Given the description of an element on the screen output the (x, y) to click on. 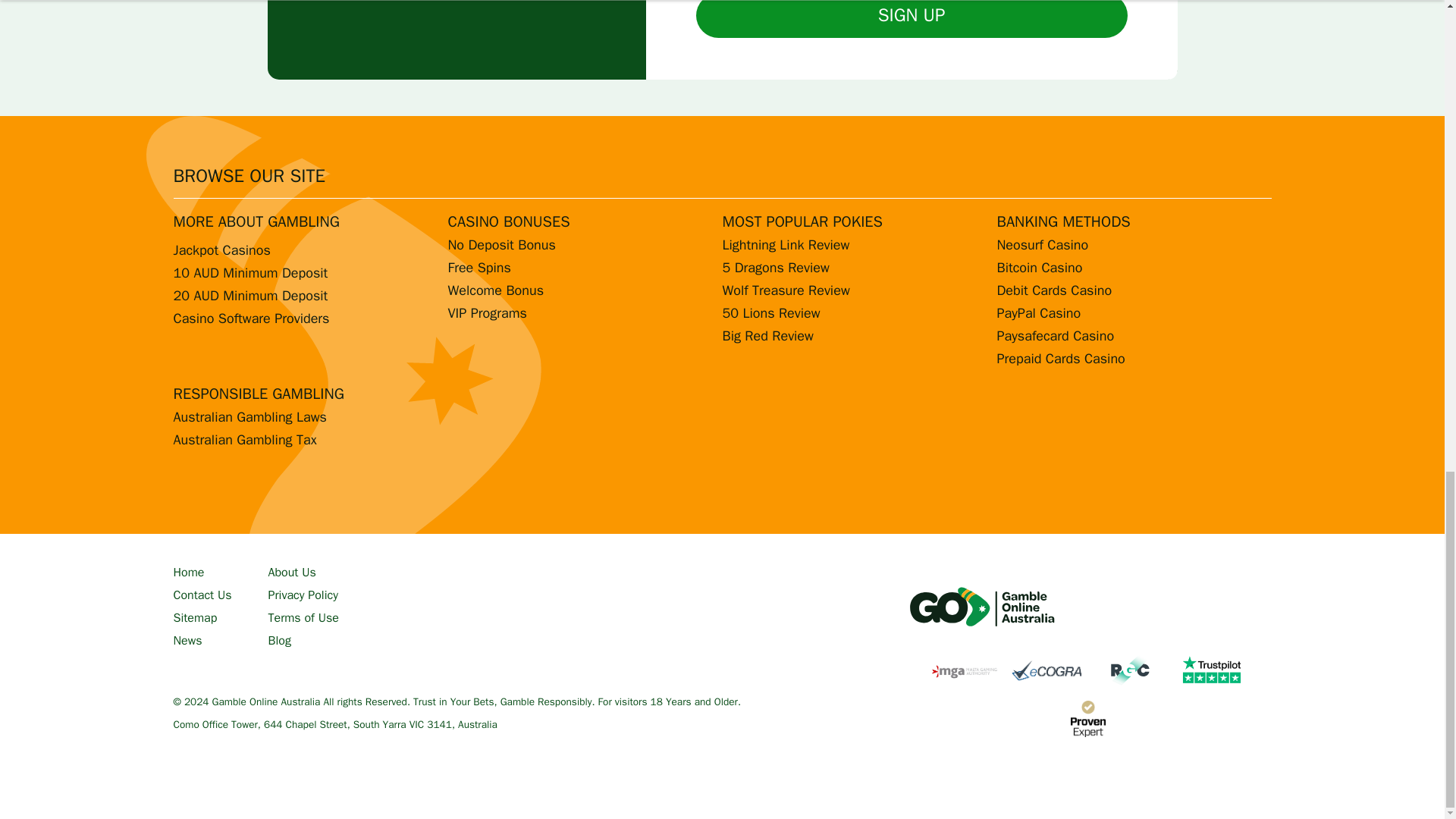
Sign Up (910, 18)
Gamble Online Australia (981, 606)
